Given the description of an element on the screen output the (x, y) to click on. 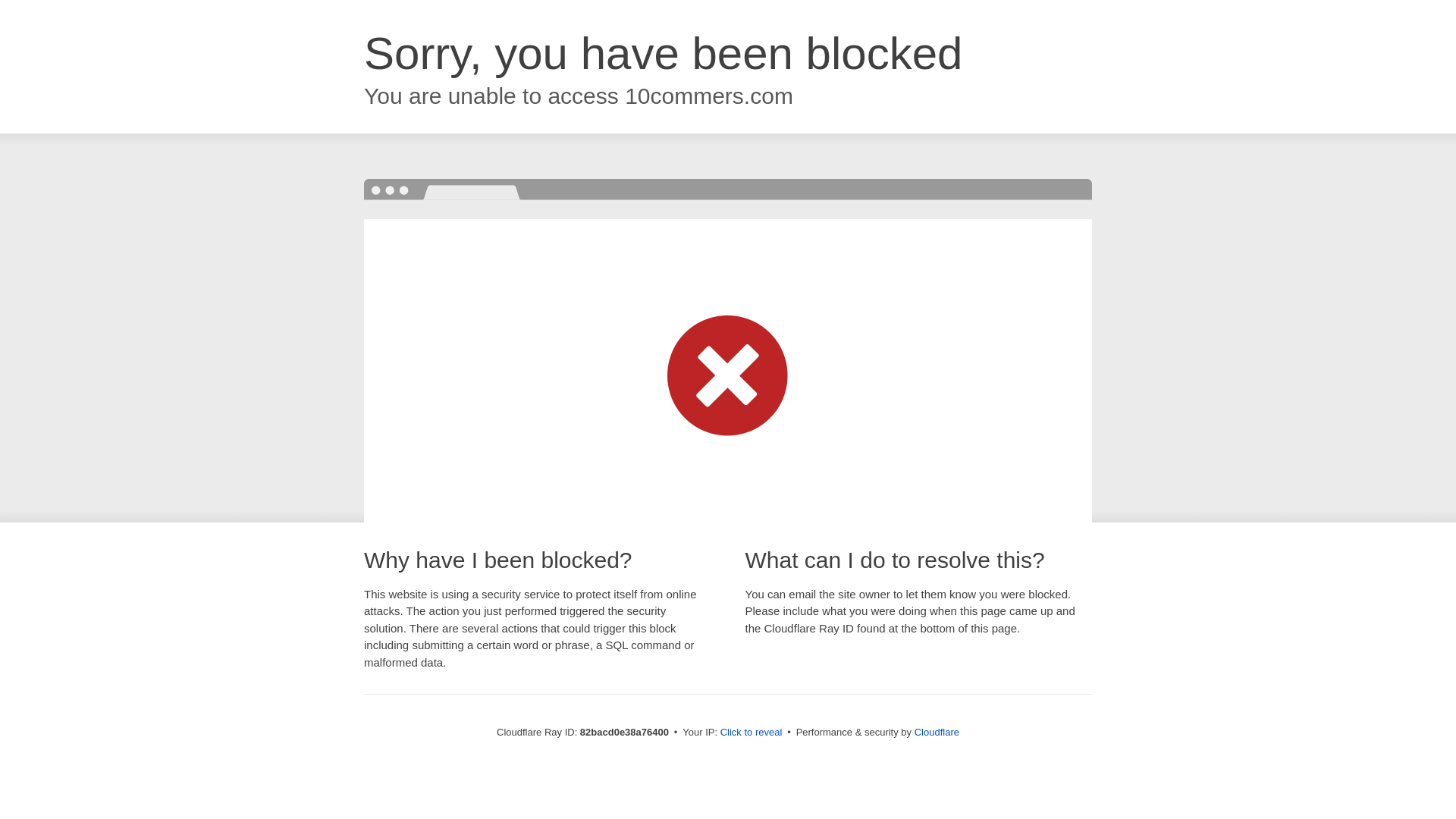
Cloudflare Element type: text (936, 731)
Click to reveal Element type: text (751, 732)
